Given the description of an element on the screen output the (x, y) to click on. 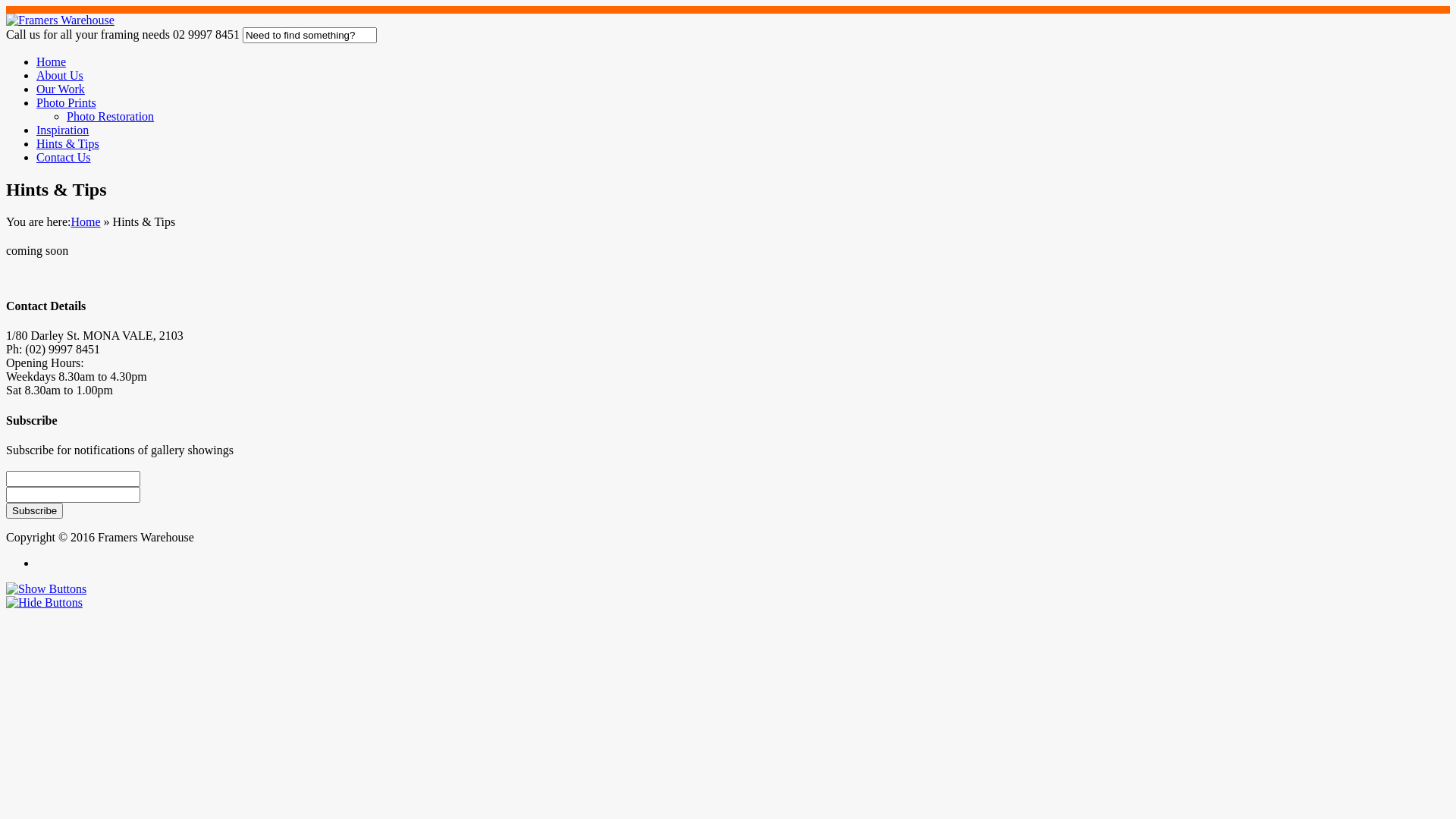
Framers Warehouse Element type: hover (60, 19)
Hints & Tips Element type: text (67, 143)
Hide Buttons Element type: hover (44, 602)
Show Buttons Element type: hover (46, 588)
Inspiration Element type: text (62, 129)
Home Element type: text (50, 61)
Contact Us Element type: text (63, 156)
About Us Element type: text (59, 75)
Photo Prints Element type: text (66, 102)
Home Element type: text (85, 221)
Share This With Your Friends Element type: hover (727, 595)
Our Work Element type: text (60, 88)
Photo Restoration Element type: text (109, 115)
Subscribe Element type: text (34, 510)
